Given the description of an element on the screen output the (x, y) to click on. 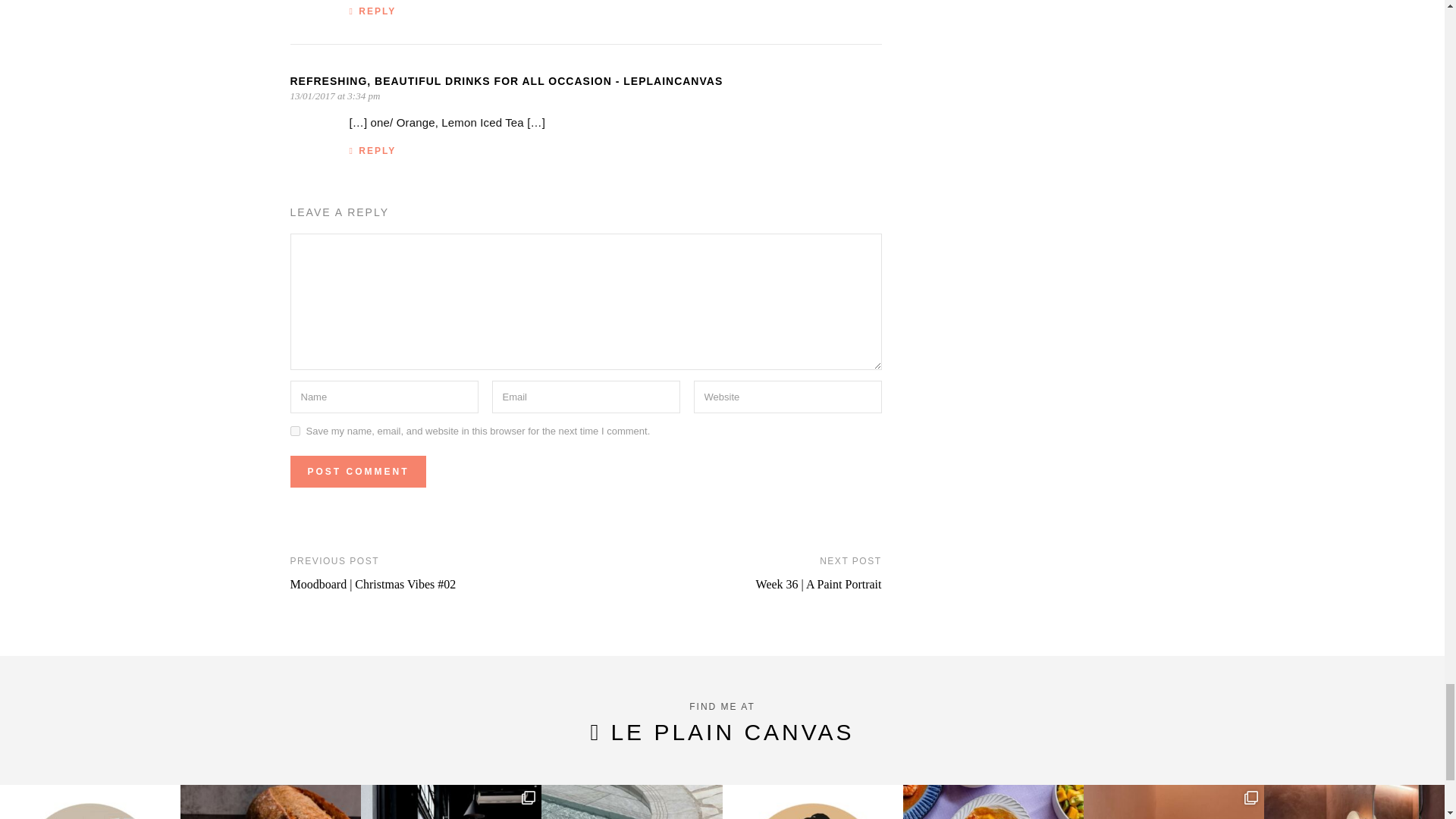
Post Comment (357, 471)
yes (294, 430)
